Given the description of an element on the screen output the (x, y) to click on. 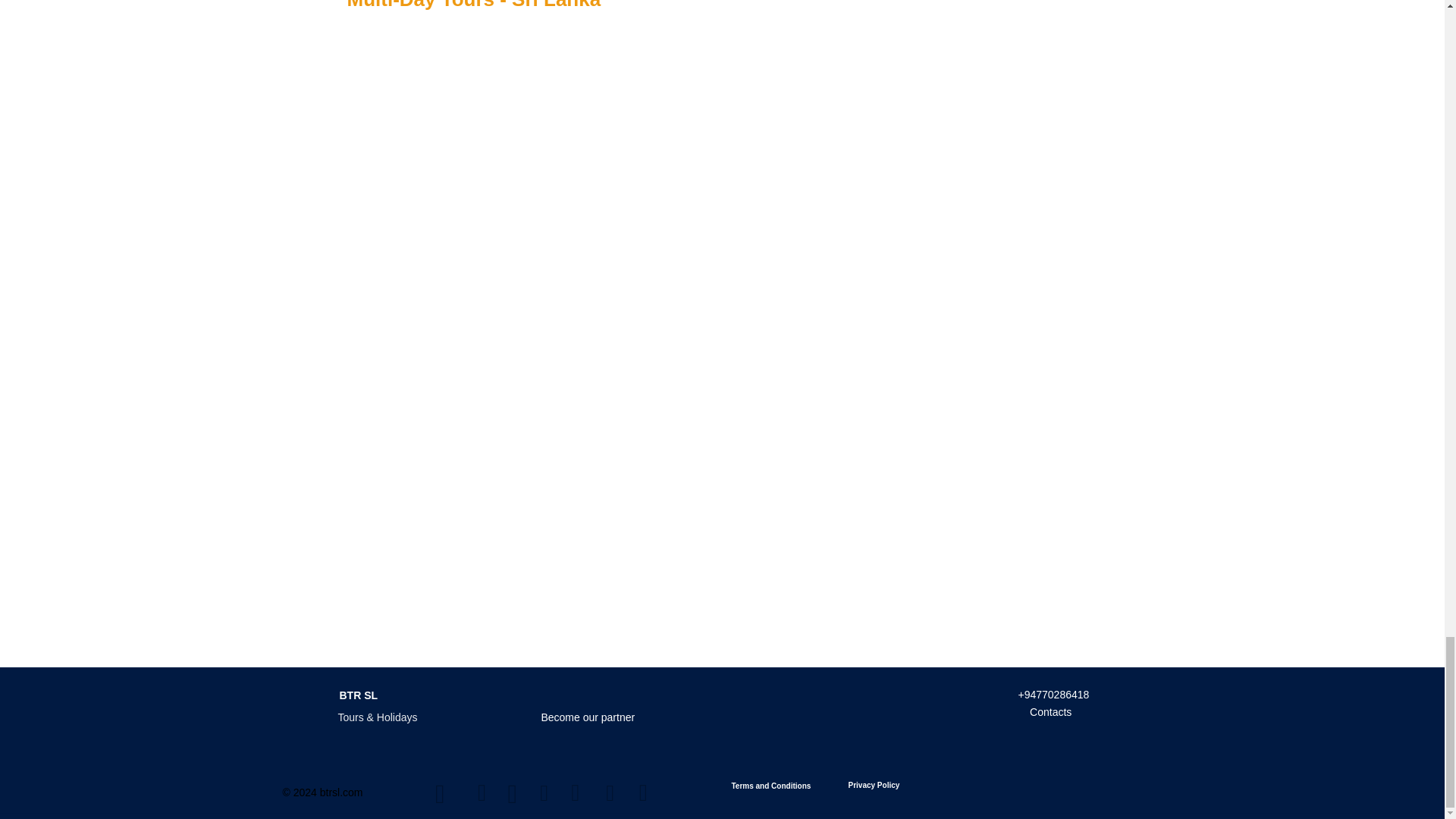
 Become our partner  (588, 717)
btrsl.com (341, 792)
Terms and Conditions (771, 785)
Ethamala Ella Waterfall Tour (738, 19)
Contacts  (1051, 711)
Koggala Lake Boat Tour (909, 19)
Privacy Policy (874, 785)
Madu River Boat Tour (1080, 19)
